Given the description of an element on the screen output the (x, y) to click on. 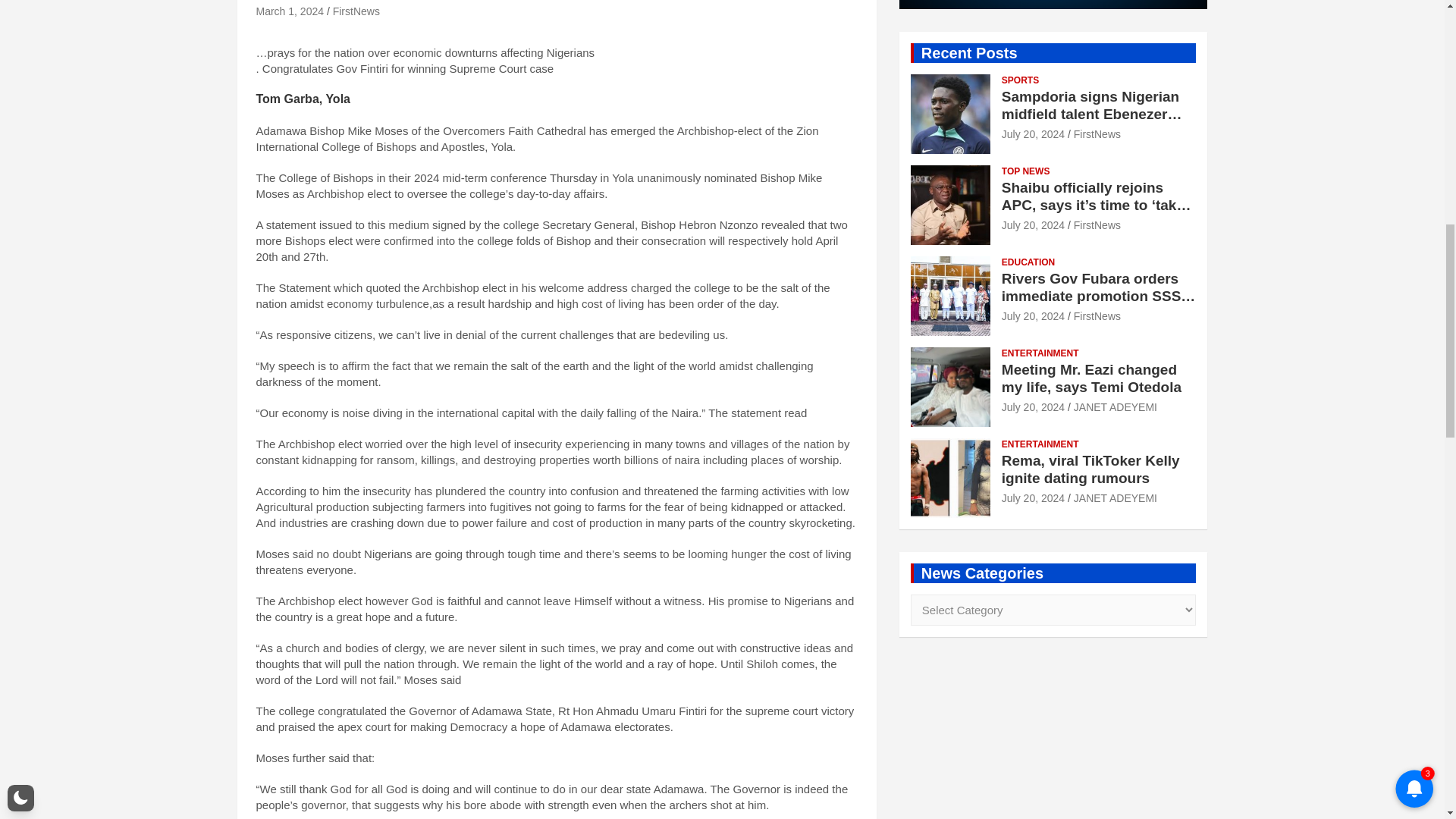
Rivers Gov Fubara orders immediate promotion SSS teachers (1032, 316)
Meeting Mr. Eazi changed my life, says Temi Otedola (1032, 407)
Rema, viral TikToker Kelly ignite dating rumours (1032, 498)
March 1, 2024 (290, 10)
FirstNews (356, 10)
